Given the description of an element on the screen output the (x, y) to click on. 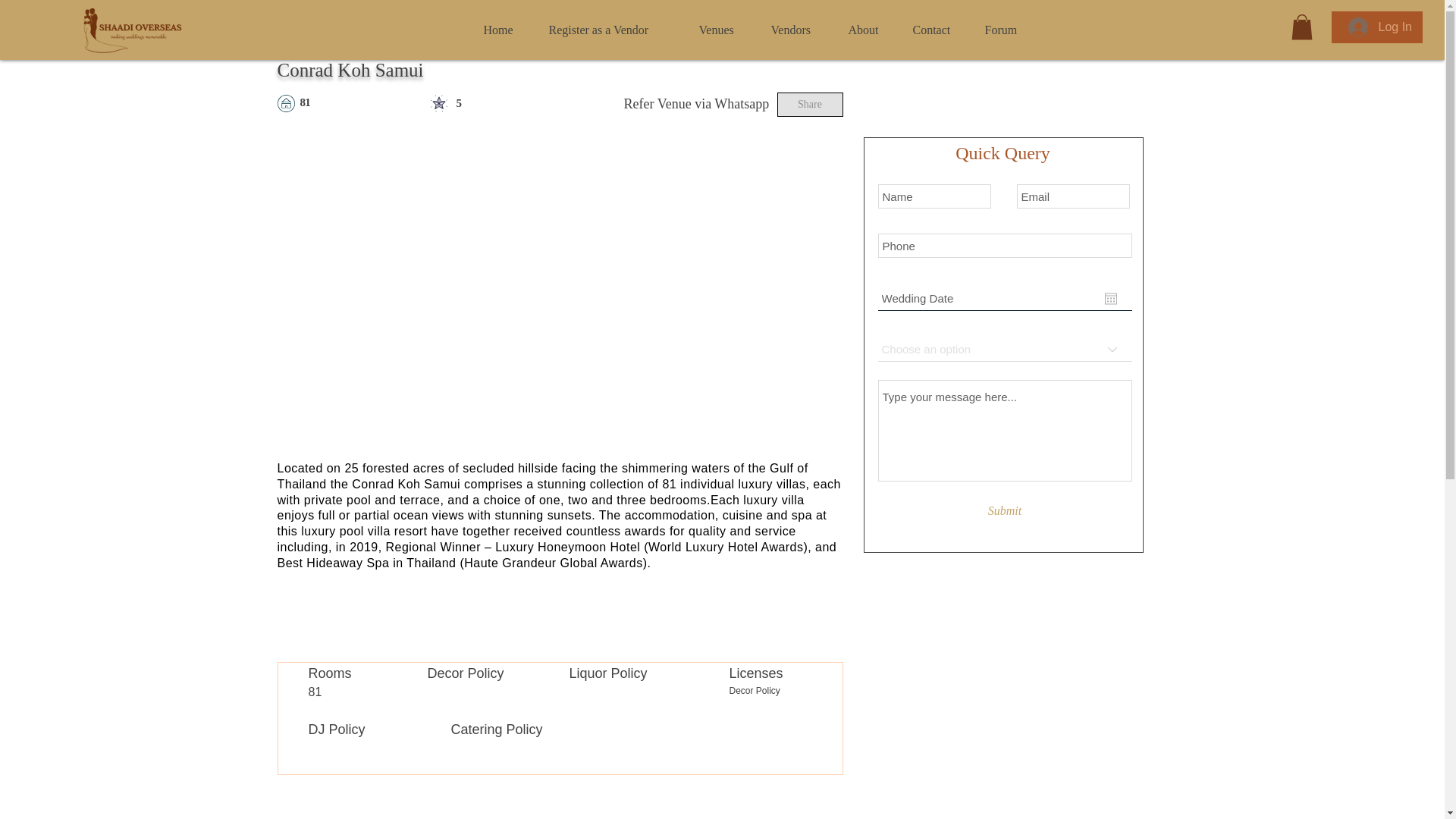
Submit (1004, 510)
Venues (722, 30)
Home (504, 30)
Register as a Vendor (612, 30)
Forum (1007, 30)
About (869, 30)
Contact (936, 30)
Share (809, 104)
Vendors (798, 30)
Log In (1380, 27)
